Given the description of an element on the screen output the (x, y) to click on. 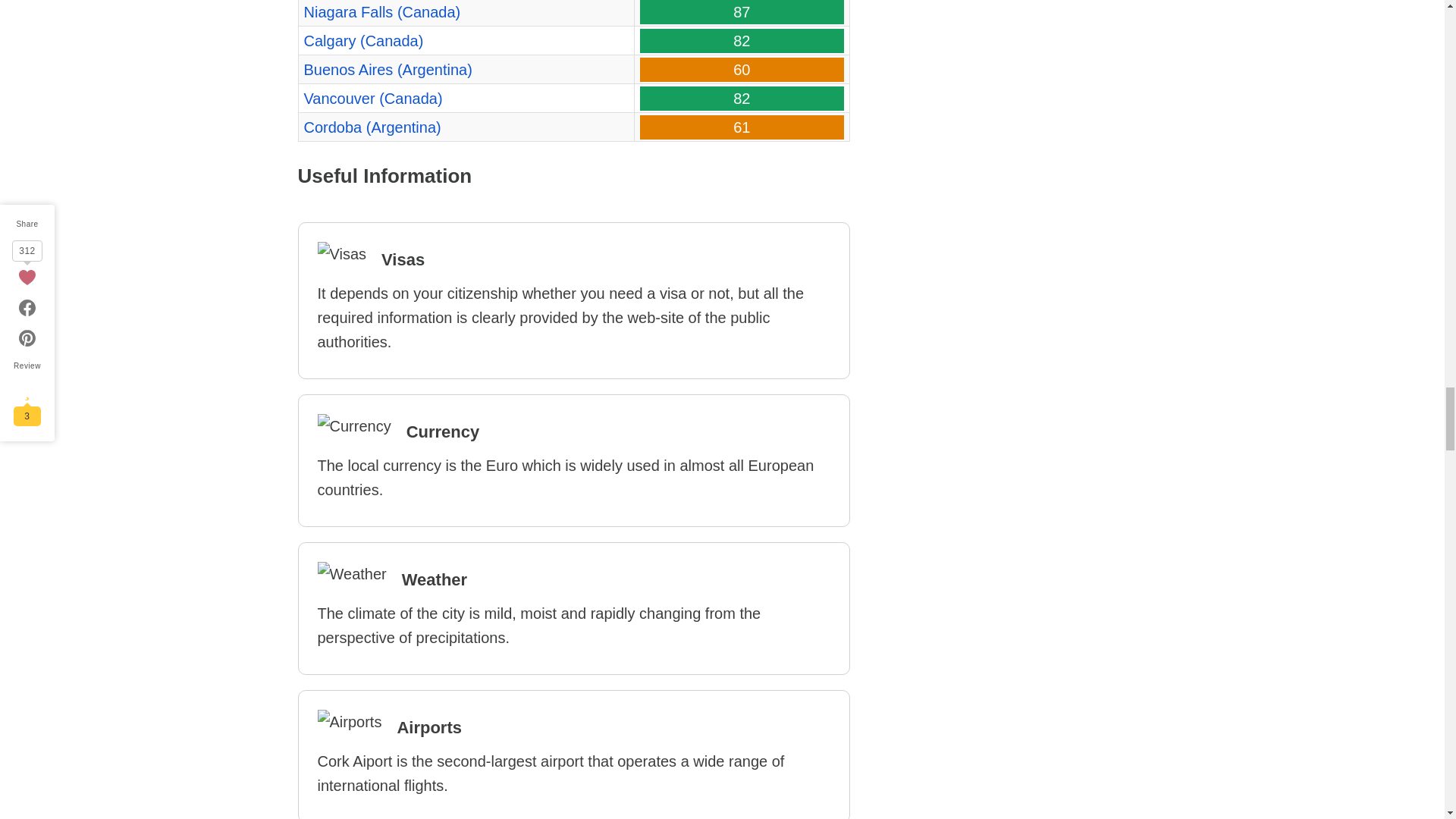
Buenos Aires Safety Review (386, 69)
Calgary Safety Review (362, 40)
Cordoba Safety Review (371, 126)
Niagara Falls Safety Review (381, 12)
Vancouver Safety Review (372, 98)
